Given the description of an element on the screen output the (x, y) to click on. 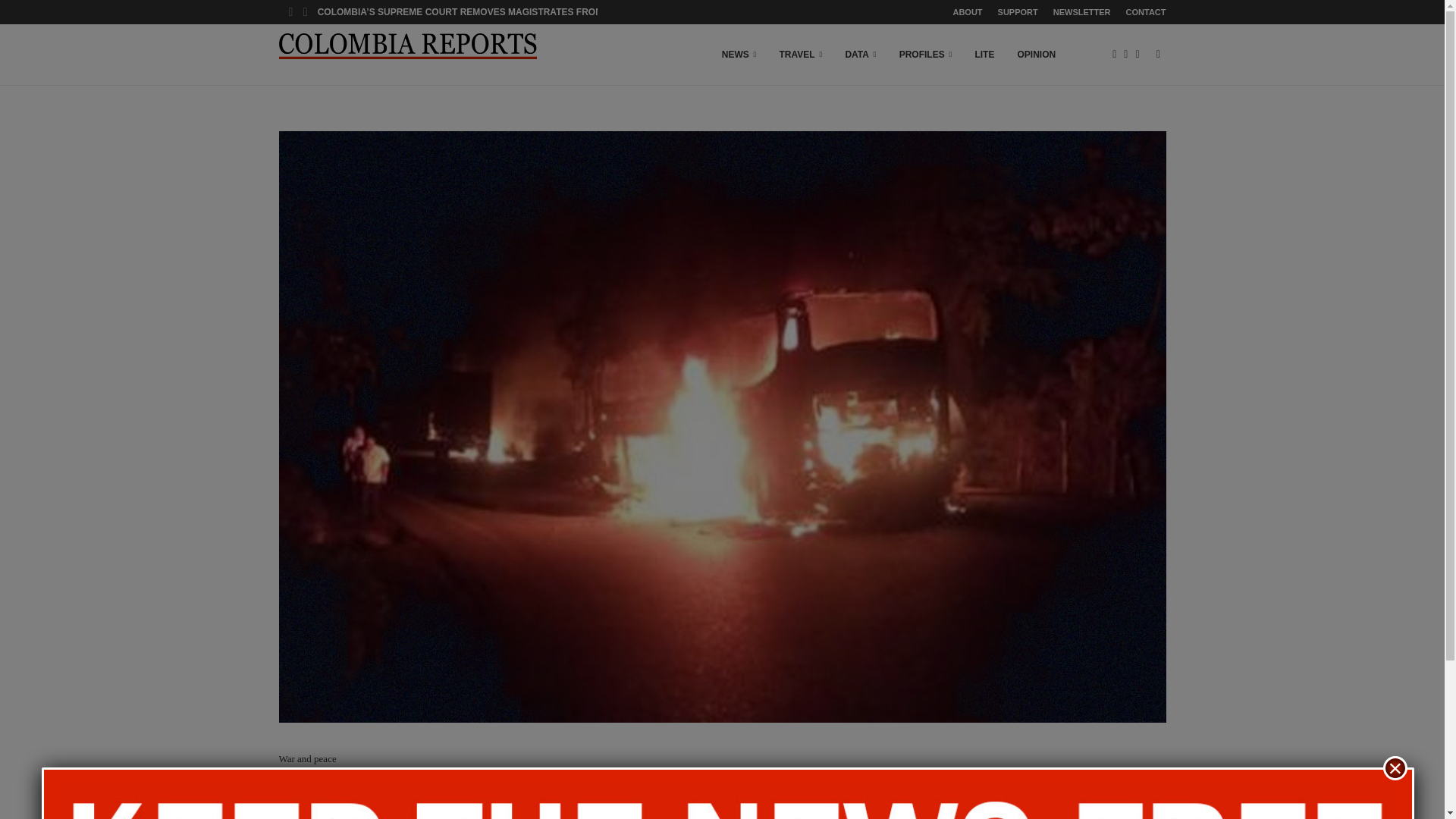
TRAVEL (801, 54)
ABOUT (966, 12)
CONTACT (1145, 12)
NEWSLETTER (1081, 12)
SUPPORT (1017, 12)
NEWS (739, 54)
